Given the description of an element on the screen output the (x, y) to click on. 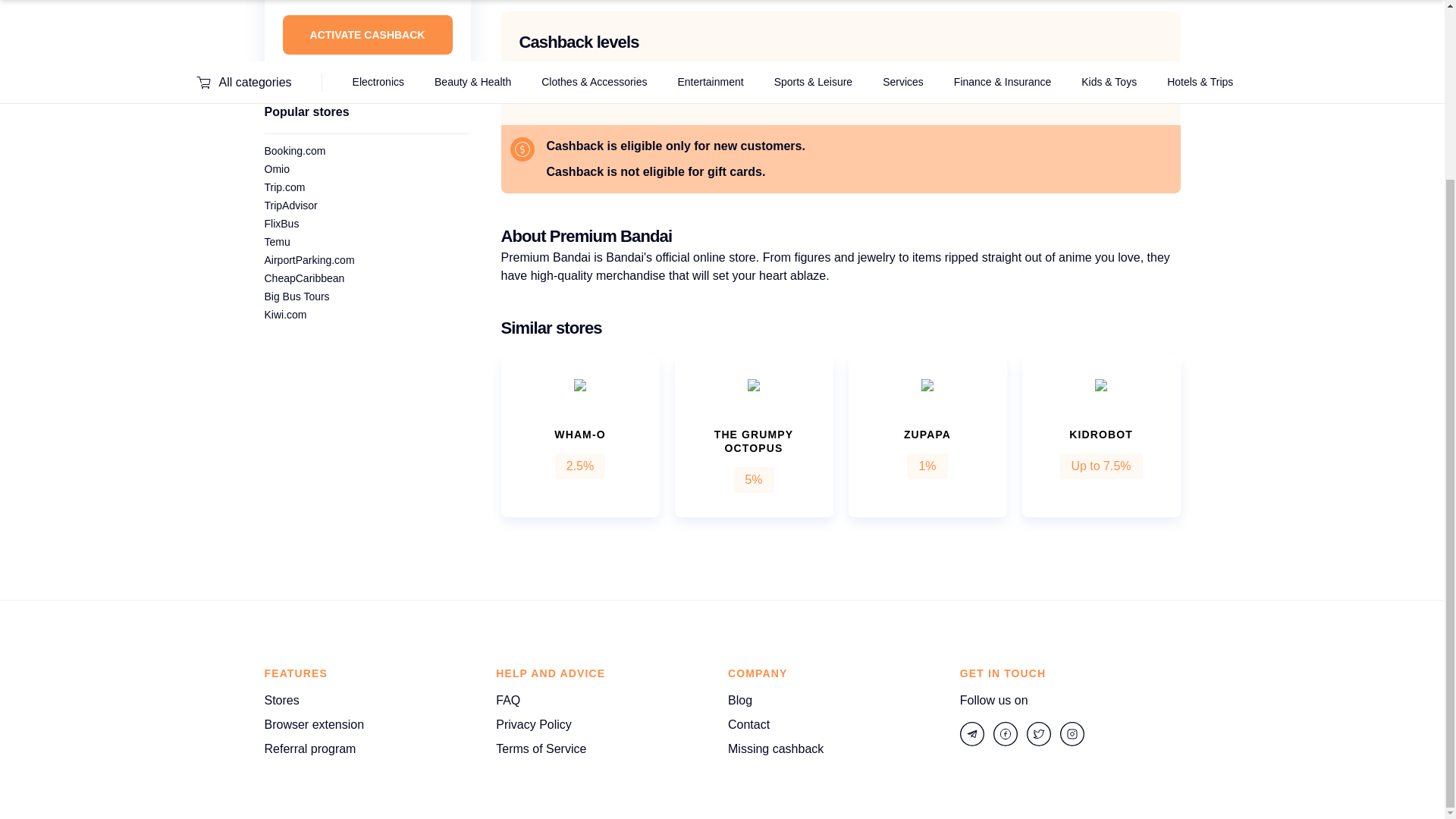
Browser extension (313, 724)
TripAdvisor (290, 205)
Temu (276, 241)
CheapCaribbean (303, 277)
Referral program (309, 749)
Trip.com (283, 186)
ACTIVATE CASHBACK (366, 34)
Big Bus Tours (296, 296)
FlixBus (280, 223)
AirportParking.com (308, 259)
Booking.com (293, 150)
Kiwi.com (284, 314)
Omio (275, 168)
Stores (280, 700)
